Given the description of an element on the screen output the (x, y) to click on. 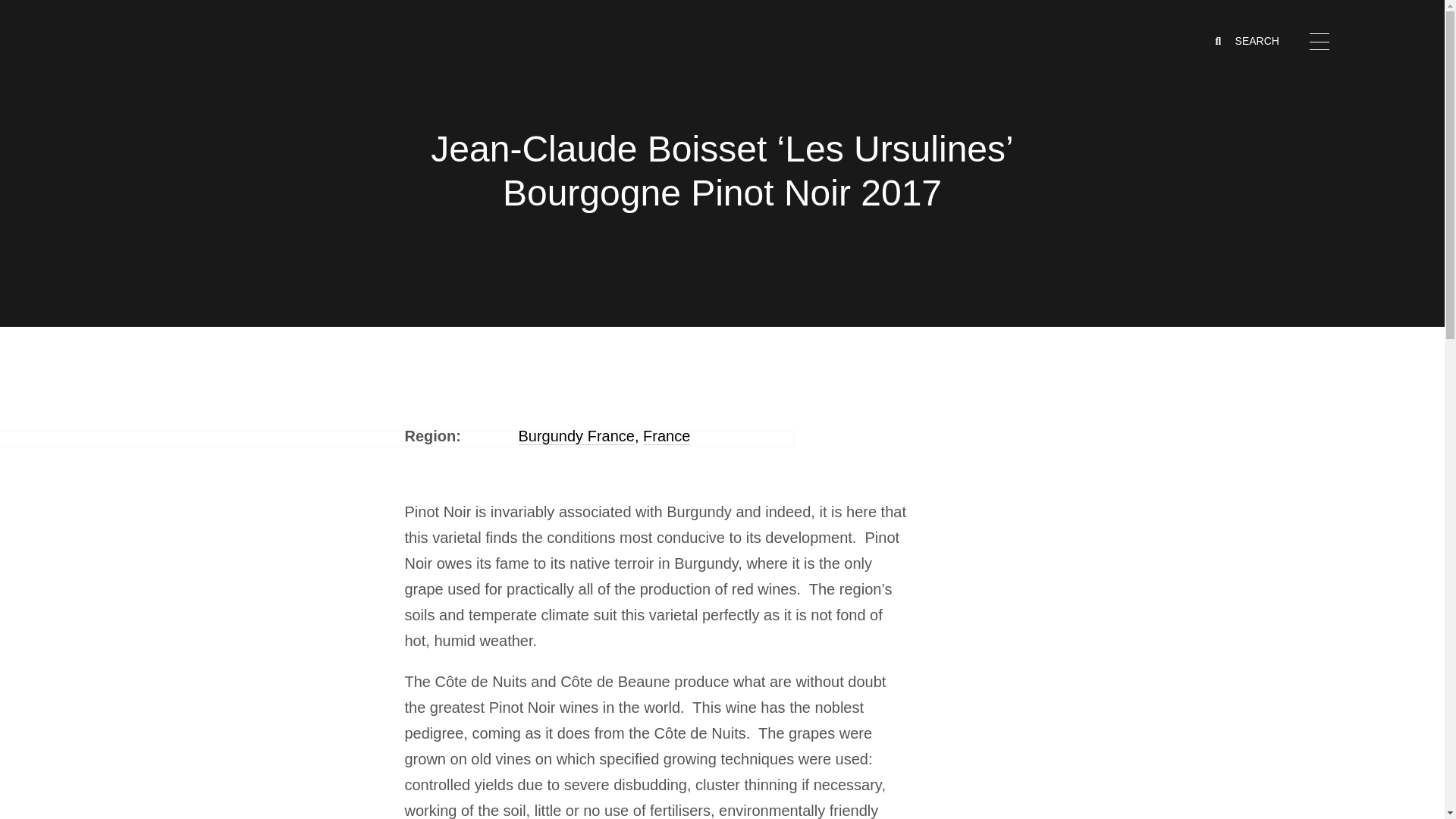
Purchasing Info (1276, 292)
SEARCH (1249, 40)
Trade Login (1266, 248)
HOME (1251, 39)
Burgundy France (576, 436)
BRANDS (1259, 67)
France (666, 436)
CONTACT (1264, 176)
ABOUT (1255, 121)
SEARCH (1249, 40)
Privacy Policy (1272, 407)
TRADE (1254, 149)
Events (1251, 341)
Videos (1251, 363)
Account Application (1288, 270)
